Given the description of an element on the screen output the (x, y) to click on. 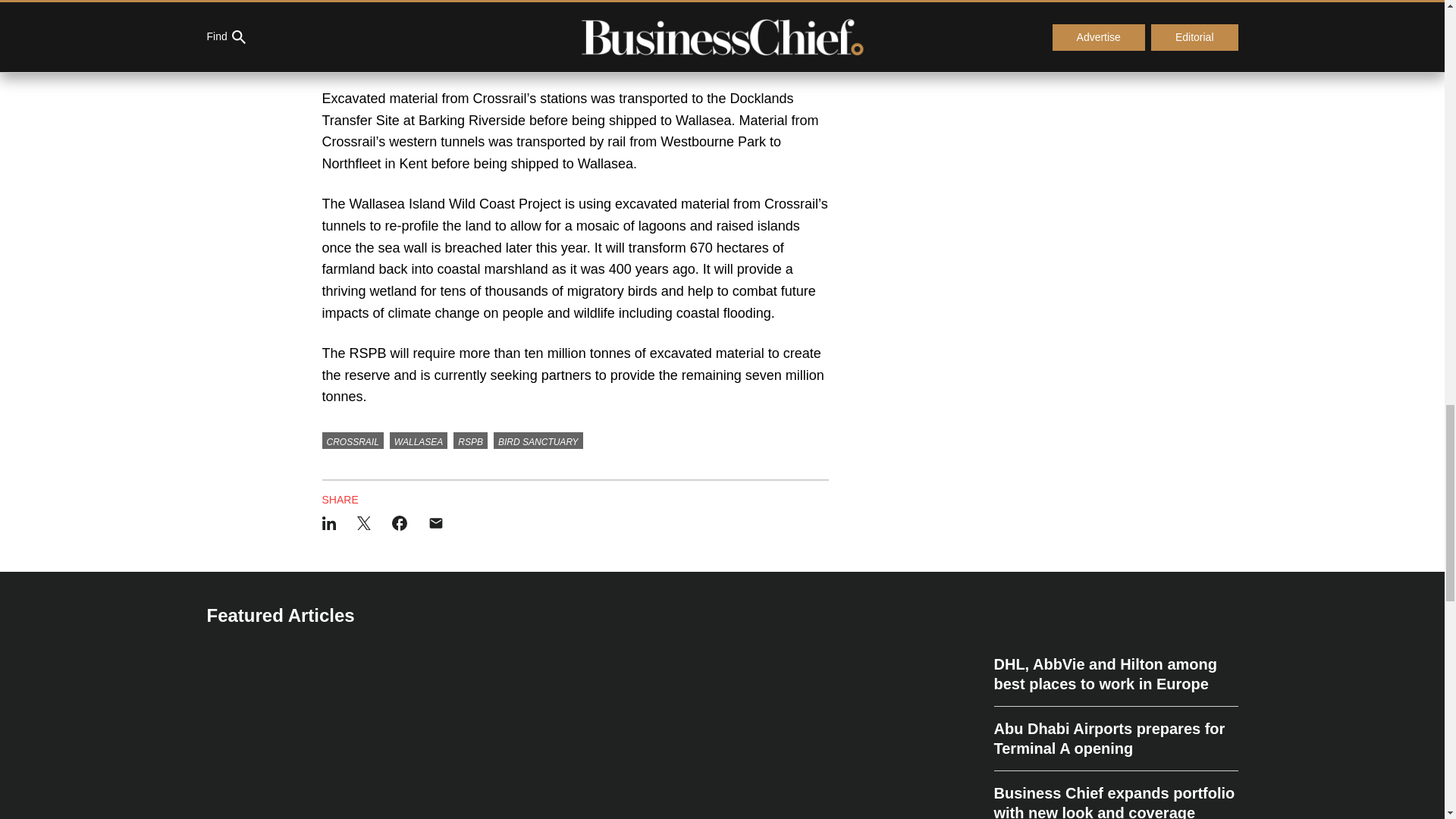
CROSSRAIL (351, 440)
RSPB (469, 440)
BIRD SANCTUARY (538, 440)
Business Chief expands portfolio with new look and coverage (1114, 795)
WALLASEA (418, 440)
DHL, AbbVie and Hilton among best places to work in Europe (1114, 680)
Abu Dhabi Airports prepares for Terminal A opening (1114, 738)
